Given the description of an element on the screen output the (x, y) to click on. 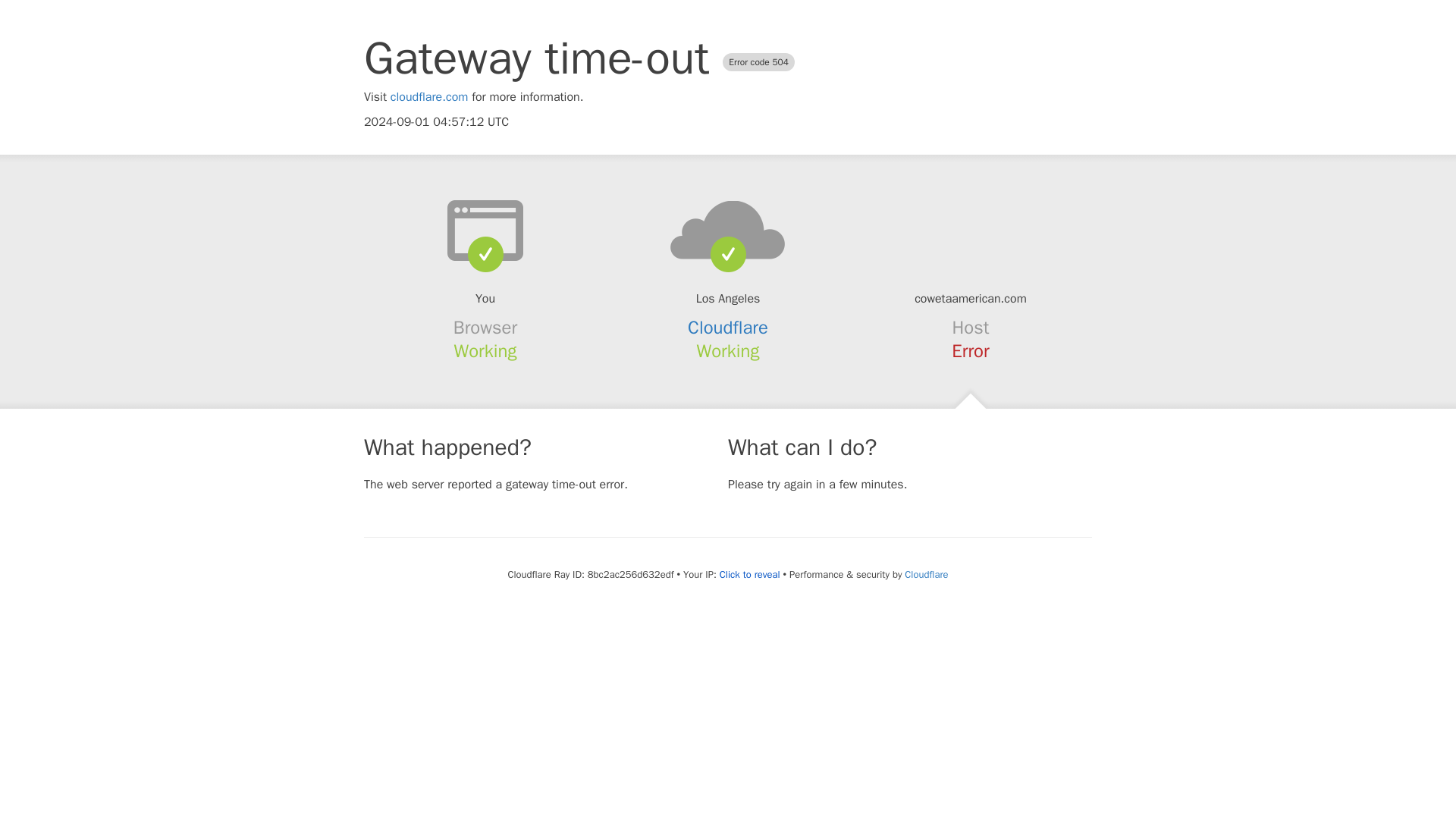
Cloudflare (727, 327)
Click to reveal (749, 574)
Cloudflare (925, 574)
cloudflare.com (429, 96)
